Given the description of an element on the screen output the (x, y) to click on. 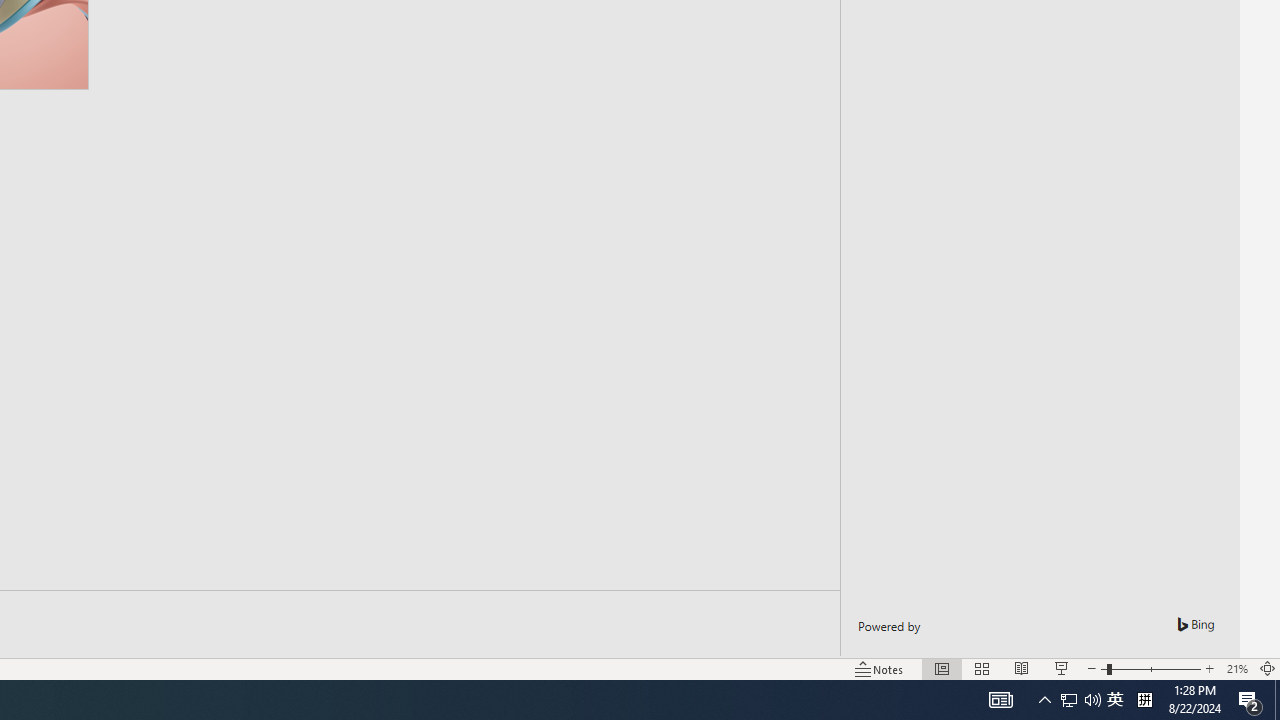
Zoom 21% (1236, 668)
